Given the description of an element on the screen output the (x, y) to click on. 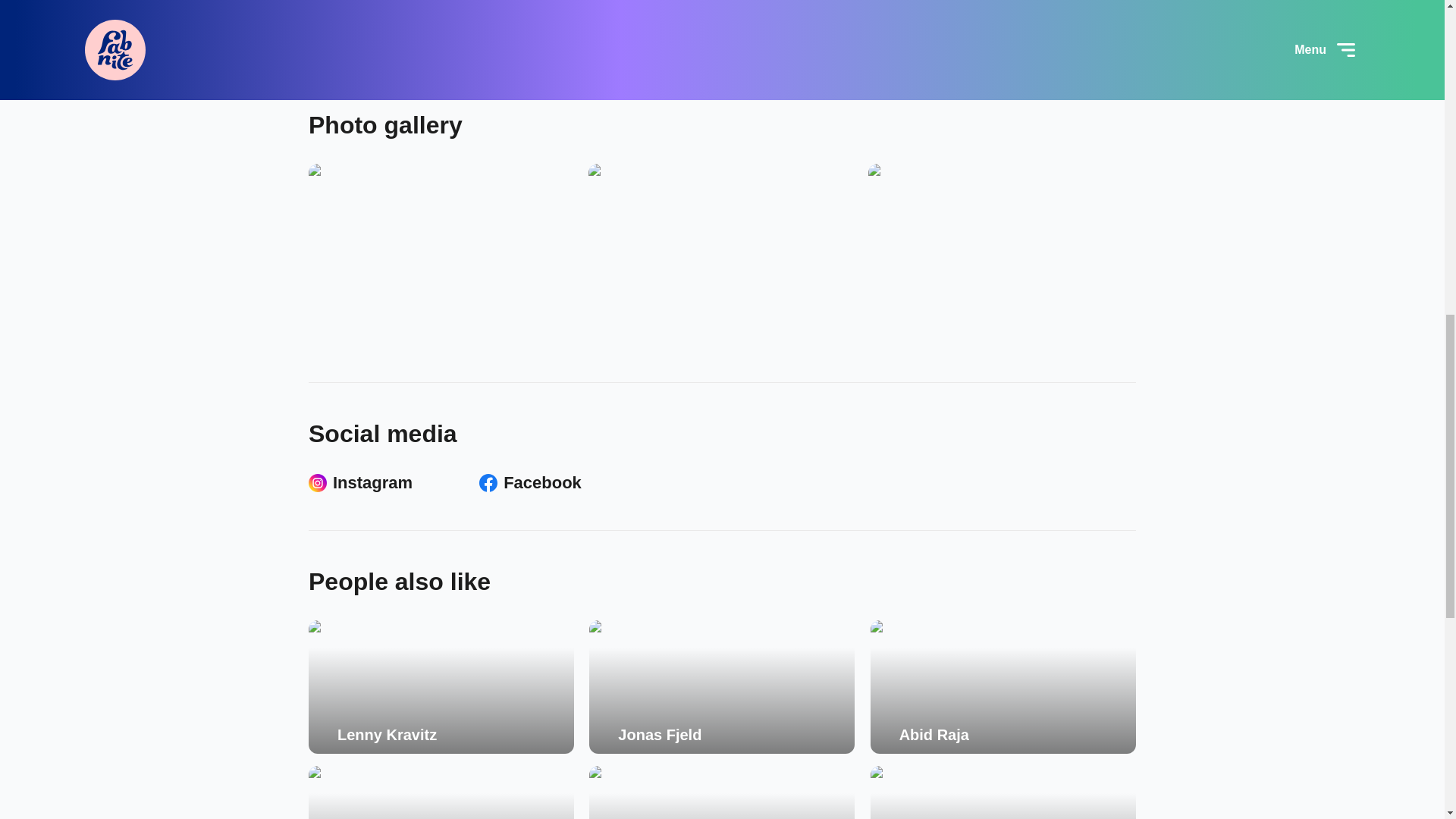
Jonas Fjeld (721, 686)
Instagram (360, 482)
Halva Priset (721, 792)
Abid Raja (1002, 686)
Facebook (529, 482)
Lenny Kravitz (440, 686)
Sigvart Dagsland (440, 792)
